Given the description of an element on the screen output the (x, y) to click on. 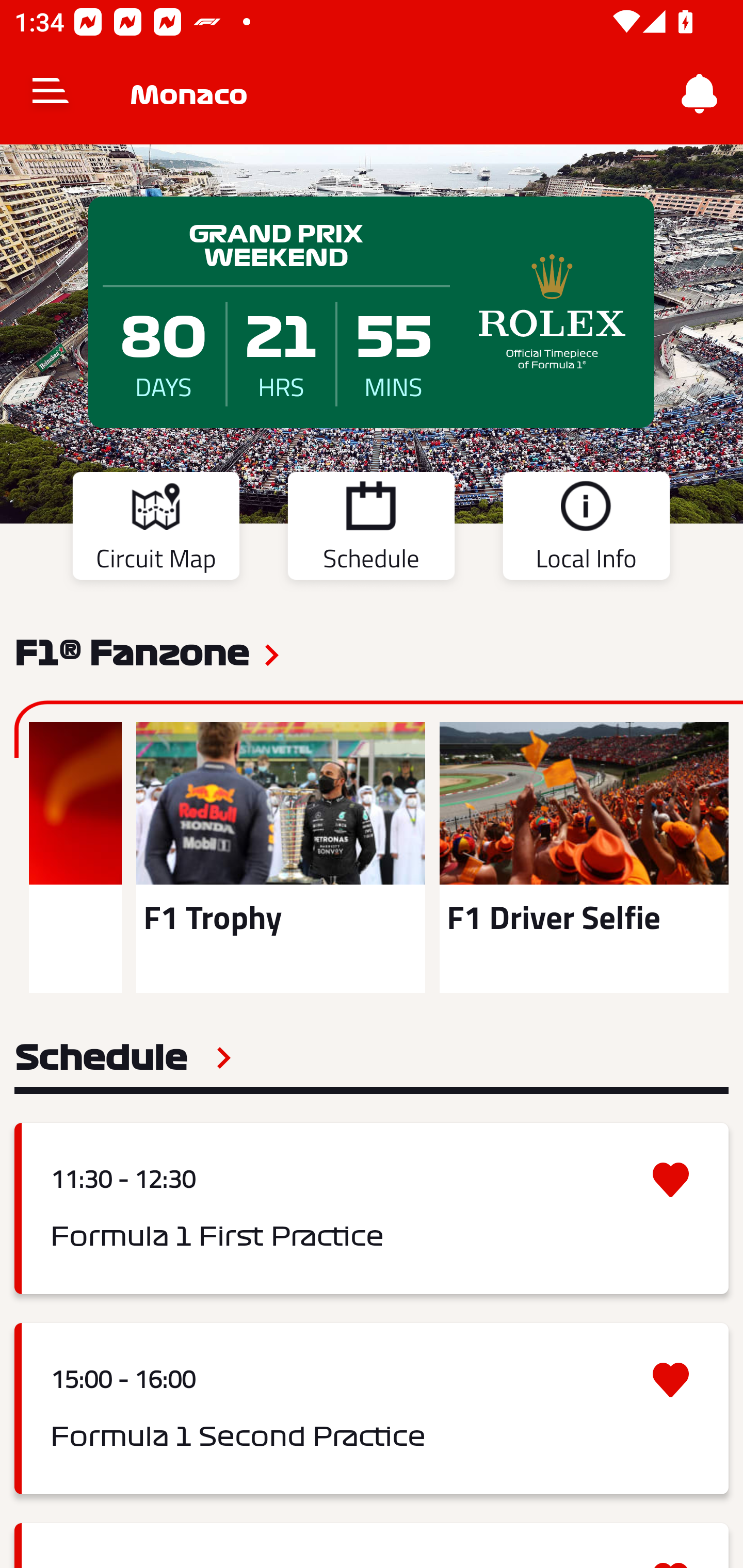
Navigate up (50, 93)
Notifications (699, 93)
Circuit Map (155, 528)
Schedule (370, 528)
Local Info (586, 528)
F1® Fanzone (131, 651)
F1 Trophy (279, 857)
F1 Driver Selfie (583, 857)
Schedule (122, 1057)
11:30 - 12:30 Formula 1 First Practice (371, 1207)
15:00 - 16:00 Formula 1 Second Practice (371, 1408)
